Given the description of an element on the screen output the (x, y) to click on. 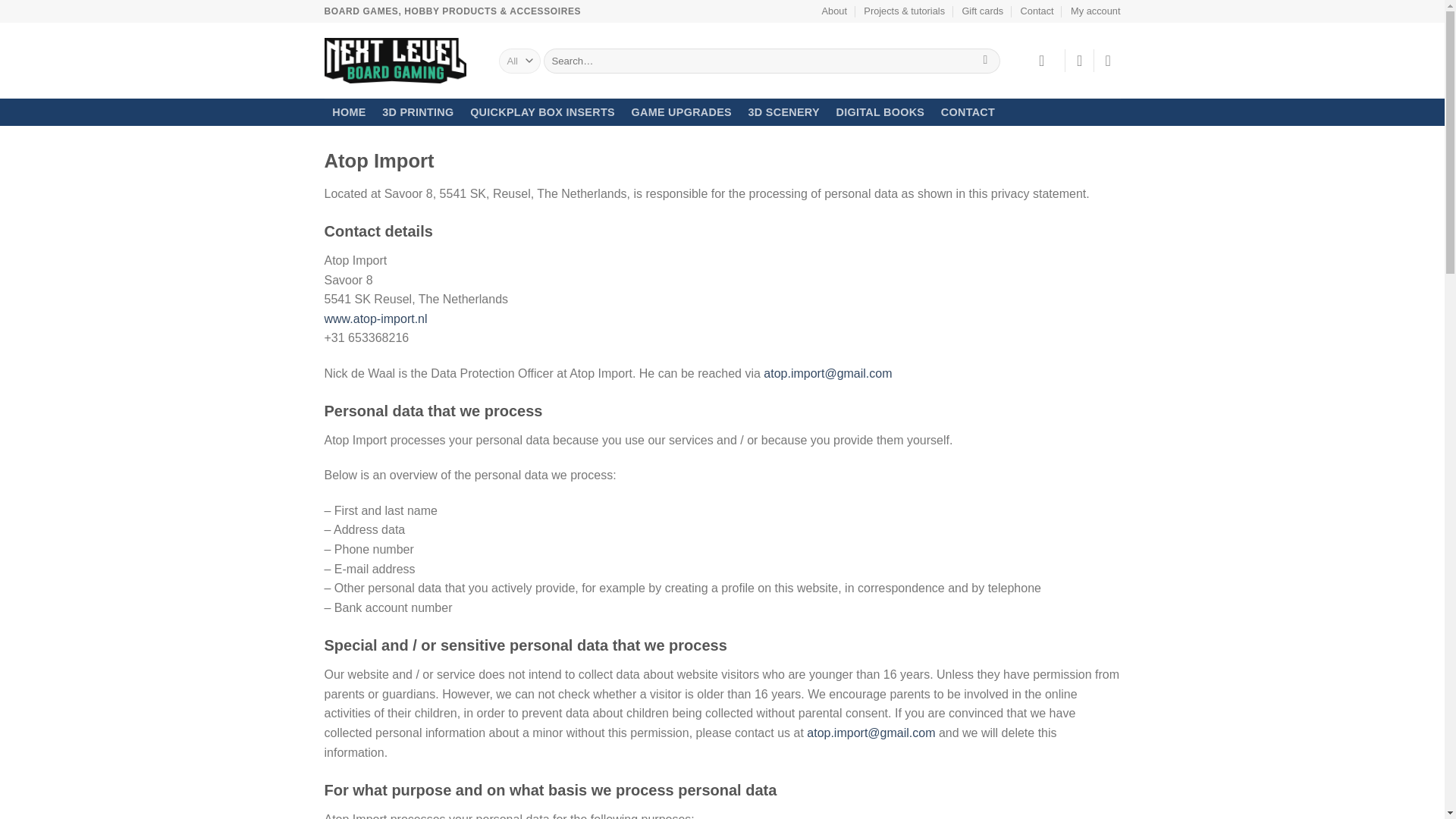
Gift cards (981, 11)
3D PRINTING (417, 112)
QUICKPLAY BOX INSERTS (542, 112)
CONTACT (968, 112)
My account (1094, 11)
DIGITAL BOOKS (880, 112)
About (834, 11)
Search (984, 61)
www.atop-import.nl (376, 318)
3D SCENERY (783, 112)
